Given the description of an element on the screen output the (x, y) to click on. 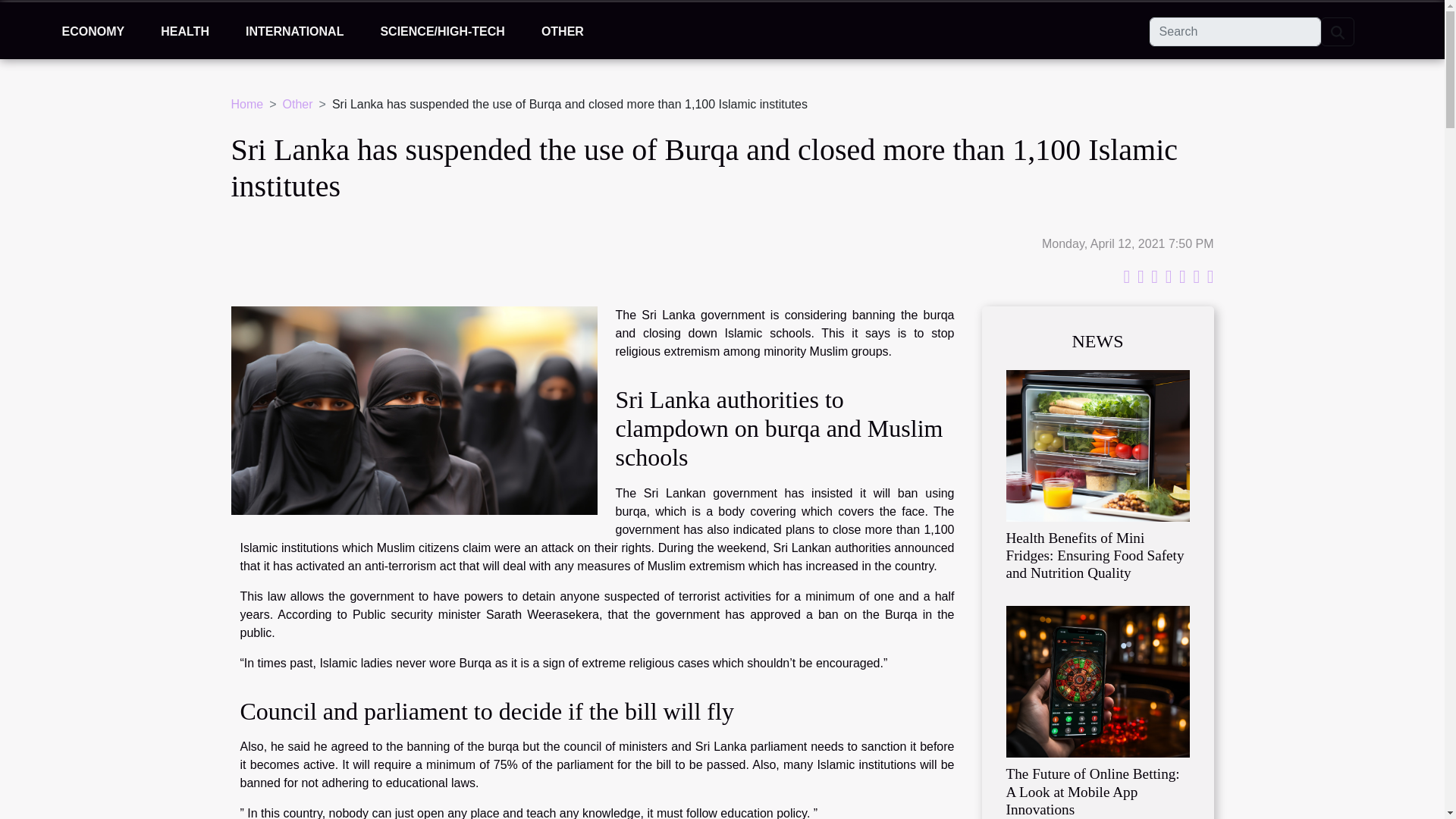
INTERNATIONAL (294, 31)
ECONOMY (92, 31)
Other (297, 103)
Other (297, 103)
